Given the description of an element on the screen output the (x, y) to click on. 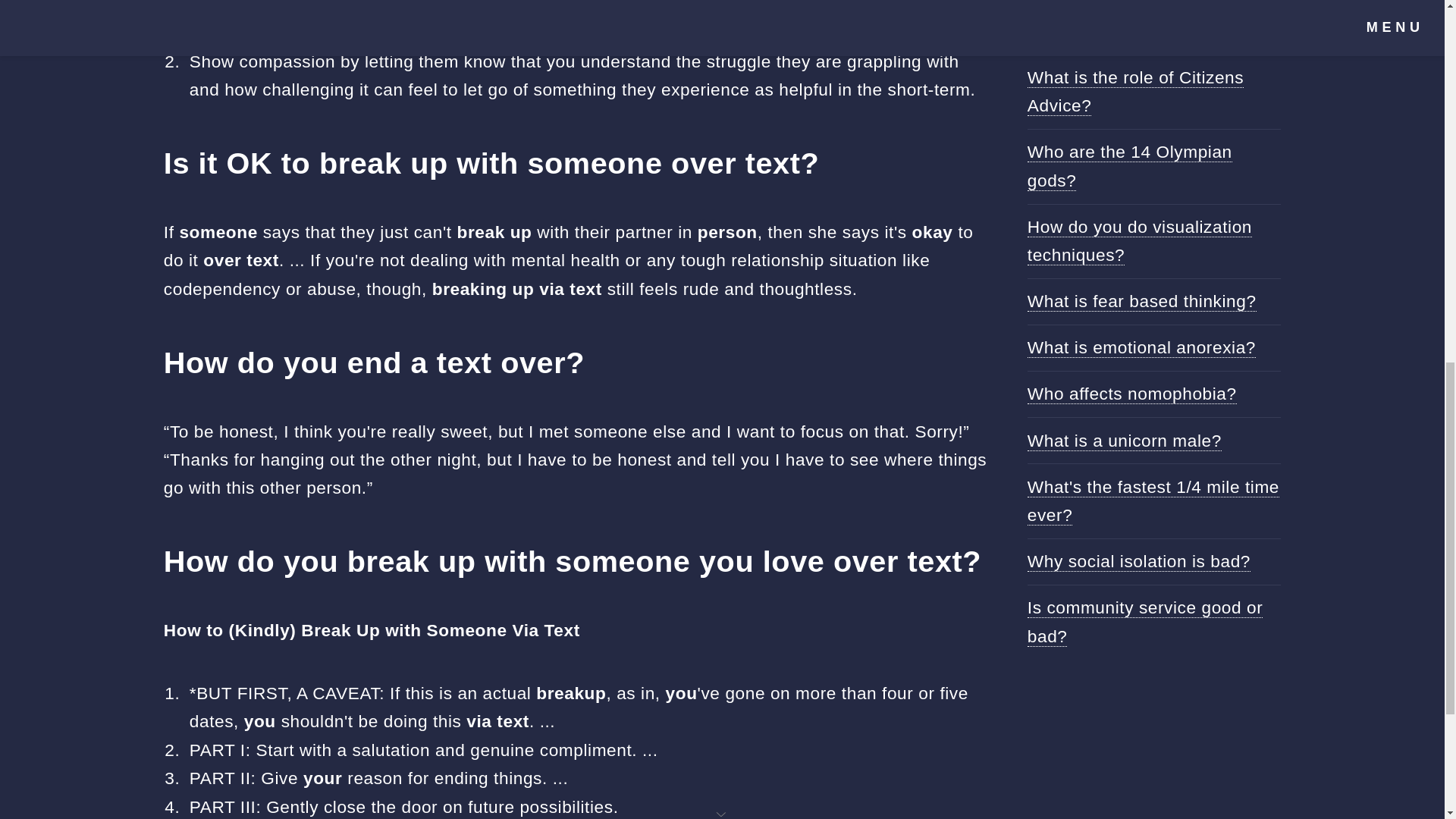
What is the role of Citizens Advice? (1135, 91)
What is fear based thinking? (1141, 301)
Is community service good or bad? (1145, 621)
Who affects nomophobia? (1131, 394)
How do you do visualization techniques? (1139, 241)
What is emotional anorexia? (1141, 347)
What is a unicorn male? (1124, 440)
Why social isolation is bad? (1138, 561)
Who are the 14 Olympian gods? (1129, 165)
